Given the description of an element on the screen output the (x, y) to click on. 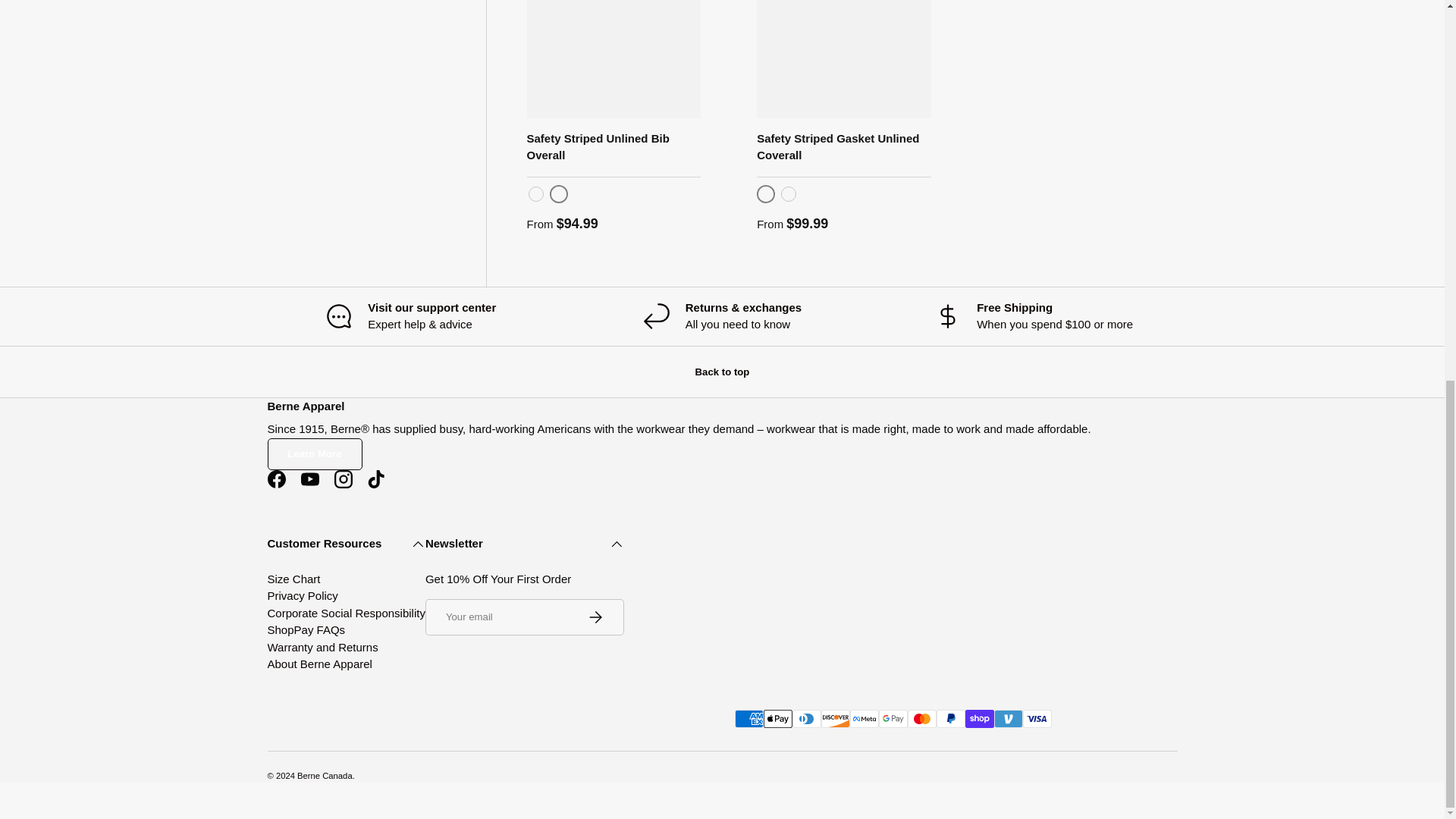
Navy (765, 193)
Orange (788, 193)
Berne Canada on YouTube (309, 479)
Berne Canada on Facebook (275, 479)
Orange (535, 193)
Navy (558, 193)
Berne Canada on Instagram (342, 479)
Berne Canada on TikTok (376, 479)
